Given the description of an element on the screen output the (x, y) to click on. 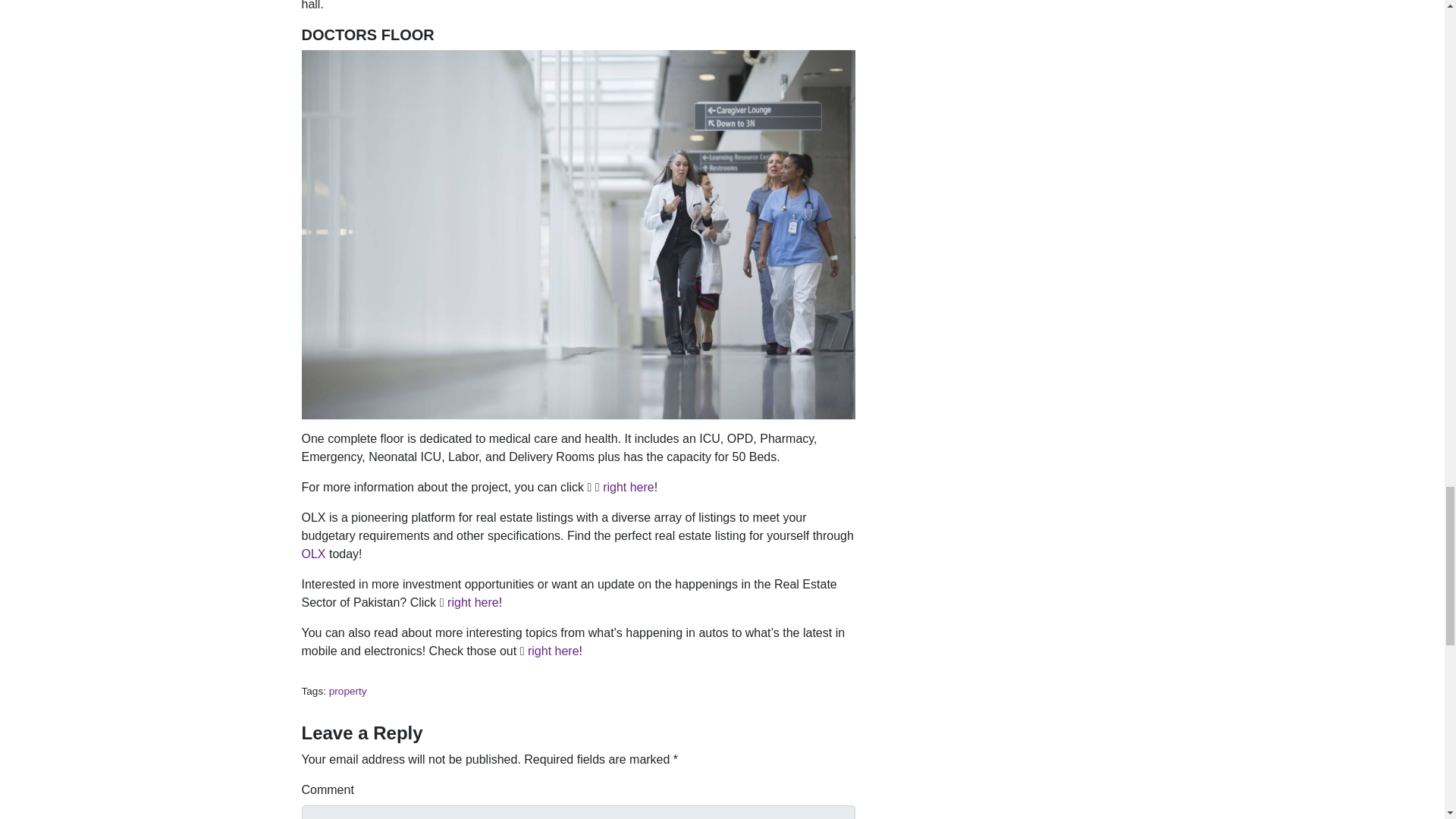
right here (472, 602)
OLX (313, 553)
right here (627, 486)
right here (551, 650)
